Given the description of an element on the screen output the (x, y) to click on. 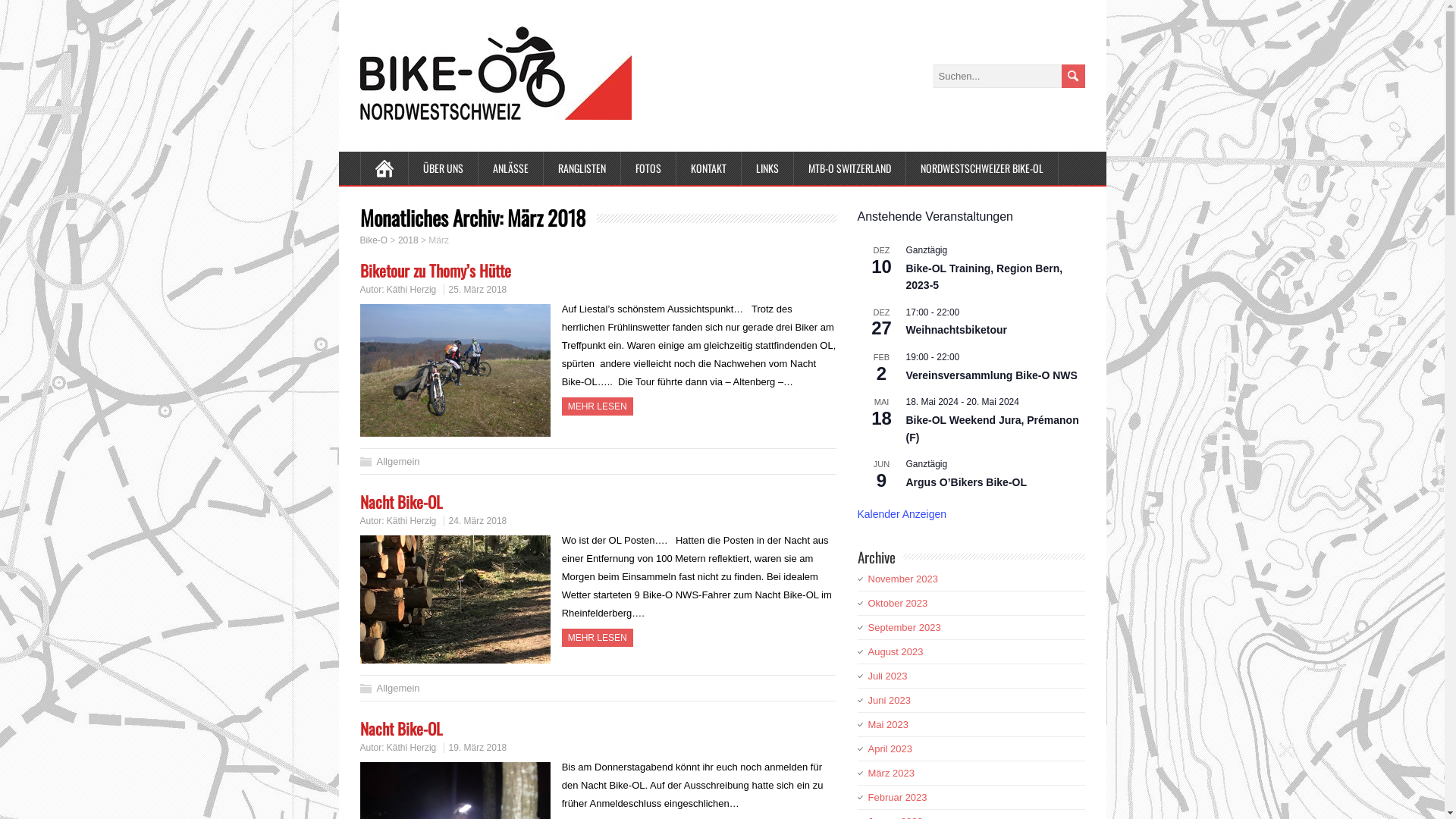
September 2023 Element type: text (903, 627)
LINKS Element type: text (767, 168)
Februar 2023 Element type: text (896, 797)
MEHR LESEN Element type: text (597, 406)
Juni 2023 Element type: text (888, 700)
August 2023 Element type: text (894, 651)
Nacht Bike-OL Element type: text (400, 501)
Juli 2023 Element type: text (886, 675)
Bike-O Element type: text (373, 240)
Allgemein Element type: text (397, 461)
Allgemein Element type: text (397, 687)
MTB-O SWITZERLAND Element type: text (849, 168)
Nacht Bike-OL Element type: text (400, 728)
Oktober 2023 Element type: text (897, 602)
April 2023 Element type: text (889, 748)
Mai 2023 Element type: text (887, 724)
FOTOS Element type: text (647, 168)
Bike-OL Training, Region Bern, 2023-5 Element type: text (983, 277)
RANGLISTEN Element type: text (581, 168)
Vereinsversammlung Bike-O NWS Element type: text (990, 375)
Kalender Anzeigen Element type: text (901, 514)
Weihnachtsbiketour Element type: text (956, 329)
KONTAKT Element type: text (708, 168)
MEHR LESEN Element type: text (597, 637)
2018 Element type: text (408, 240)
November 2023 Element type: text (902, 578)
NORDWESTSCHWEIZER BIKE-OL Element type: text (981, 168)
